Given the description of an element on the screen output the (x, y) to click on. 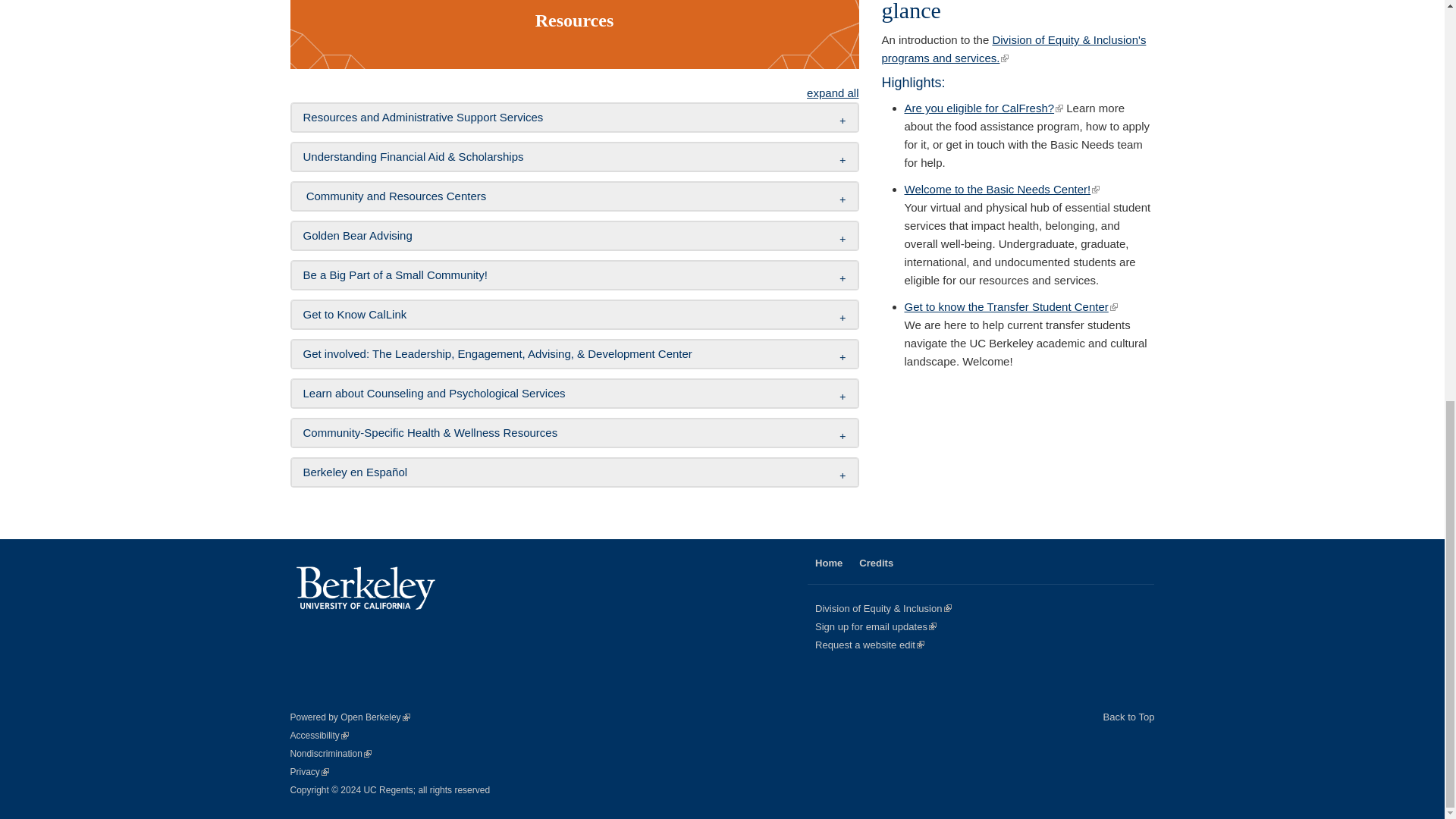
expand all (832, 92)
